Given the description of an element on the screen output the (x, y) to click on. 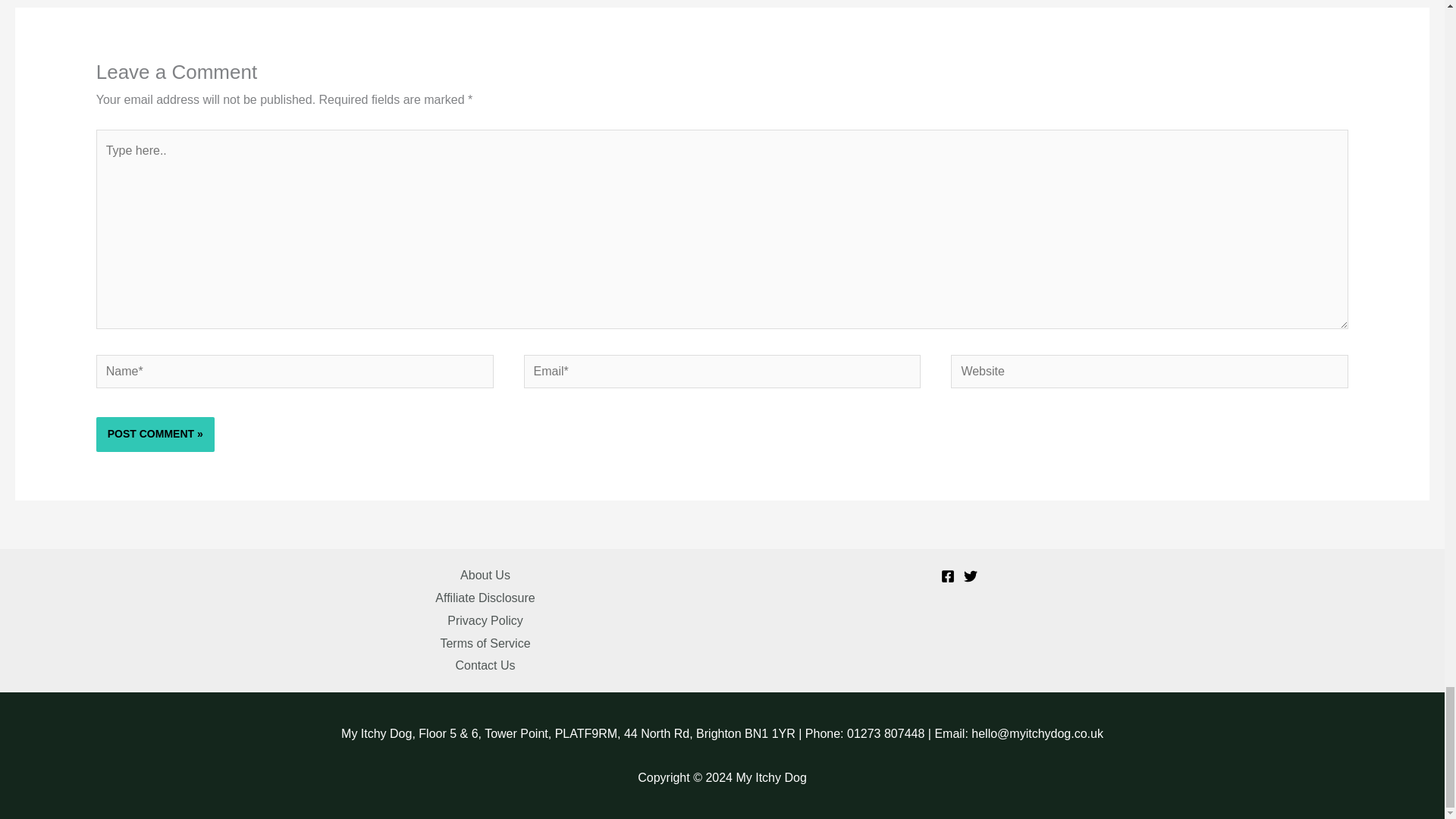
About Us (485, 575)
